Given the description of an element on the screen output the (x, y) to click on. 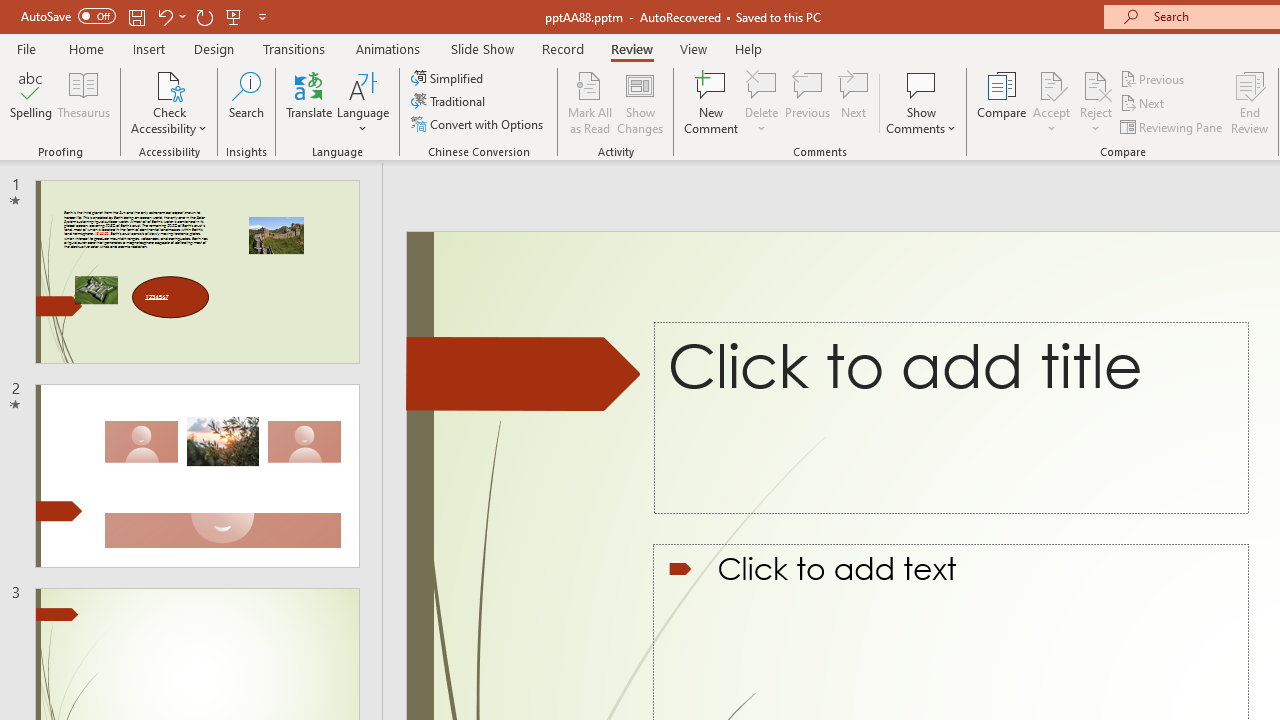
Reject Change (1096, 84)
Language (363, 102)
Reviewing Pane (1172, 126)
Mark All as Read (589, 102)
Show Changes (639, 102)
Show Comments (921, 84)
Accept (1051, 102)
